Given the description of an element on the screen output the (x, y) to click on. 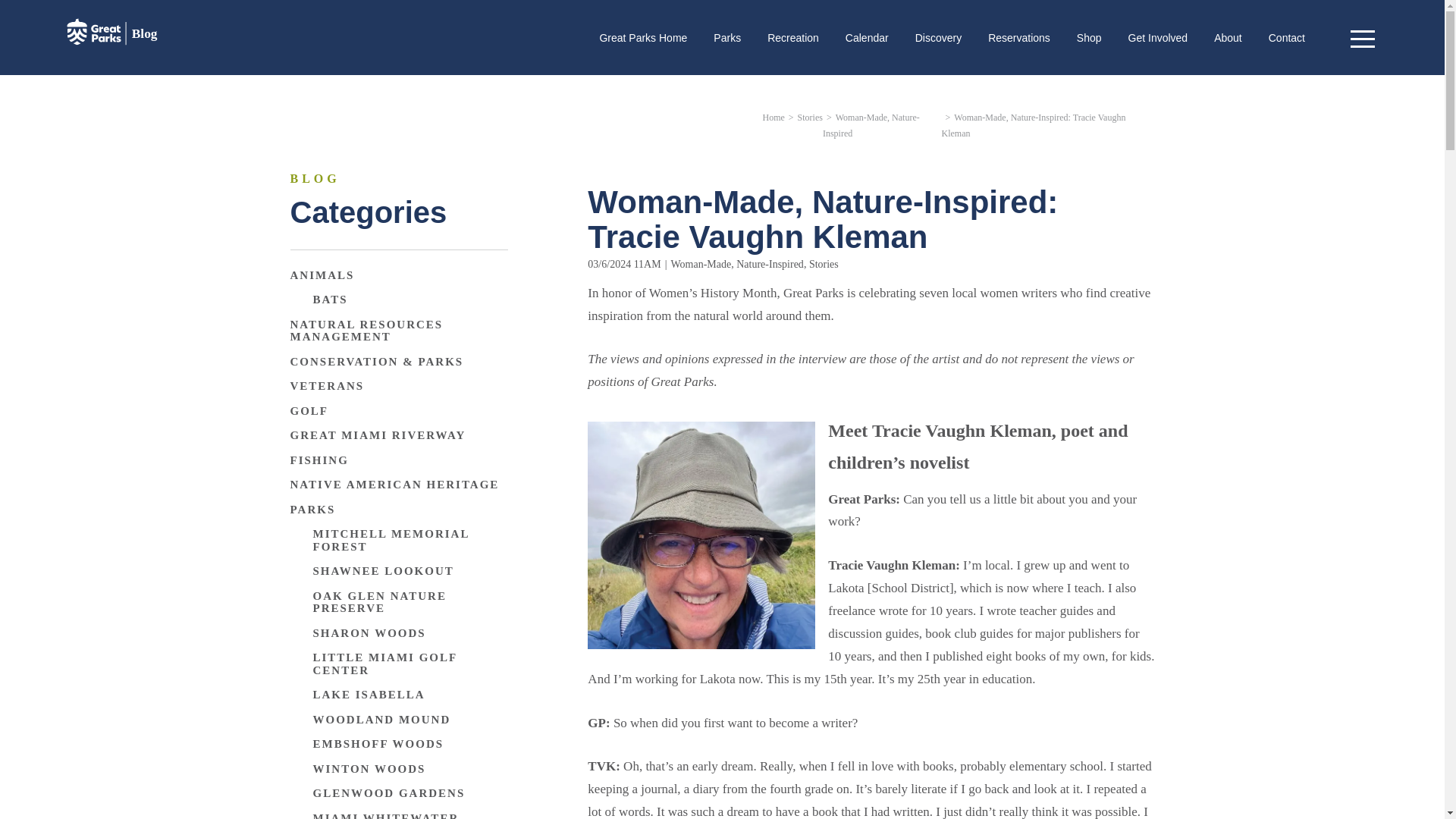
About (1227, 37)
GOLF (309, 410)
NATURAL RESOURCES MANAGEMENT (397, 330)
Go to the Woman-Made, Nature-Inspired category archives. (871, 125)
Shop (1089, 37)
Get Involved (1158, 37)
NATIVE AMERICAN HERITAGE (394, 484)
BATS (330, 299)
Stories (823, 264)
Go to . (773, 117)
